Given the description of an element on the screen output the (x, y) to click on. 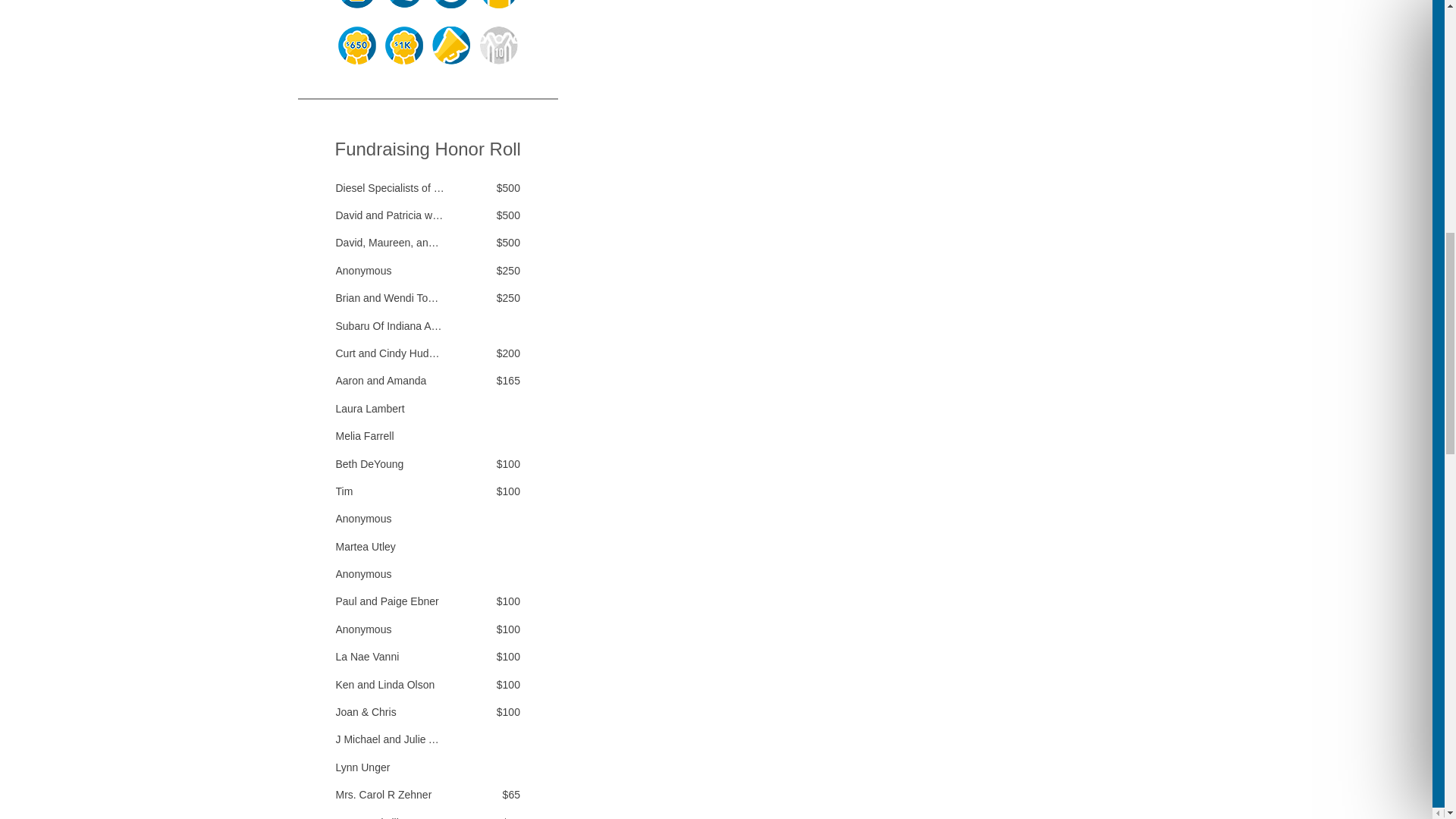
10 Teammates. Recruit 10 teammates to earn this badge. (499, 45)
